Given the description of an element on the screen output the (x, y) to click on. 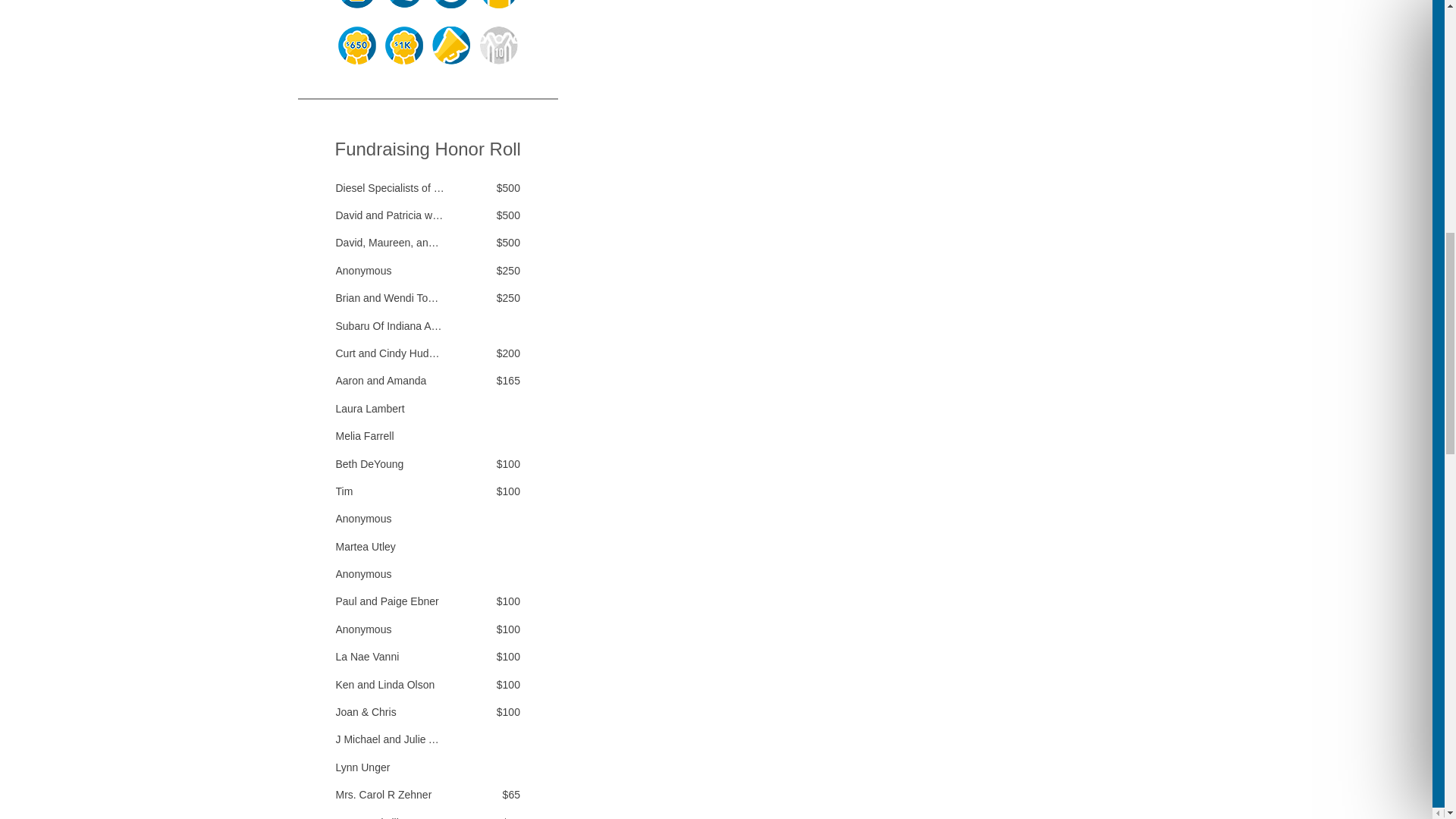
10 Teammates. Recruit 10 teammates to earn this badge. (499, 45)
